Given the description of an element on the screen output the (x, y) to click on. 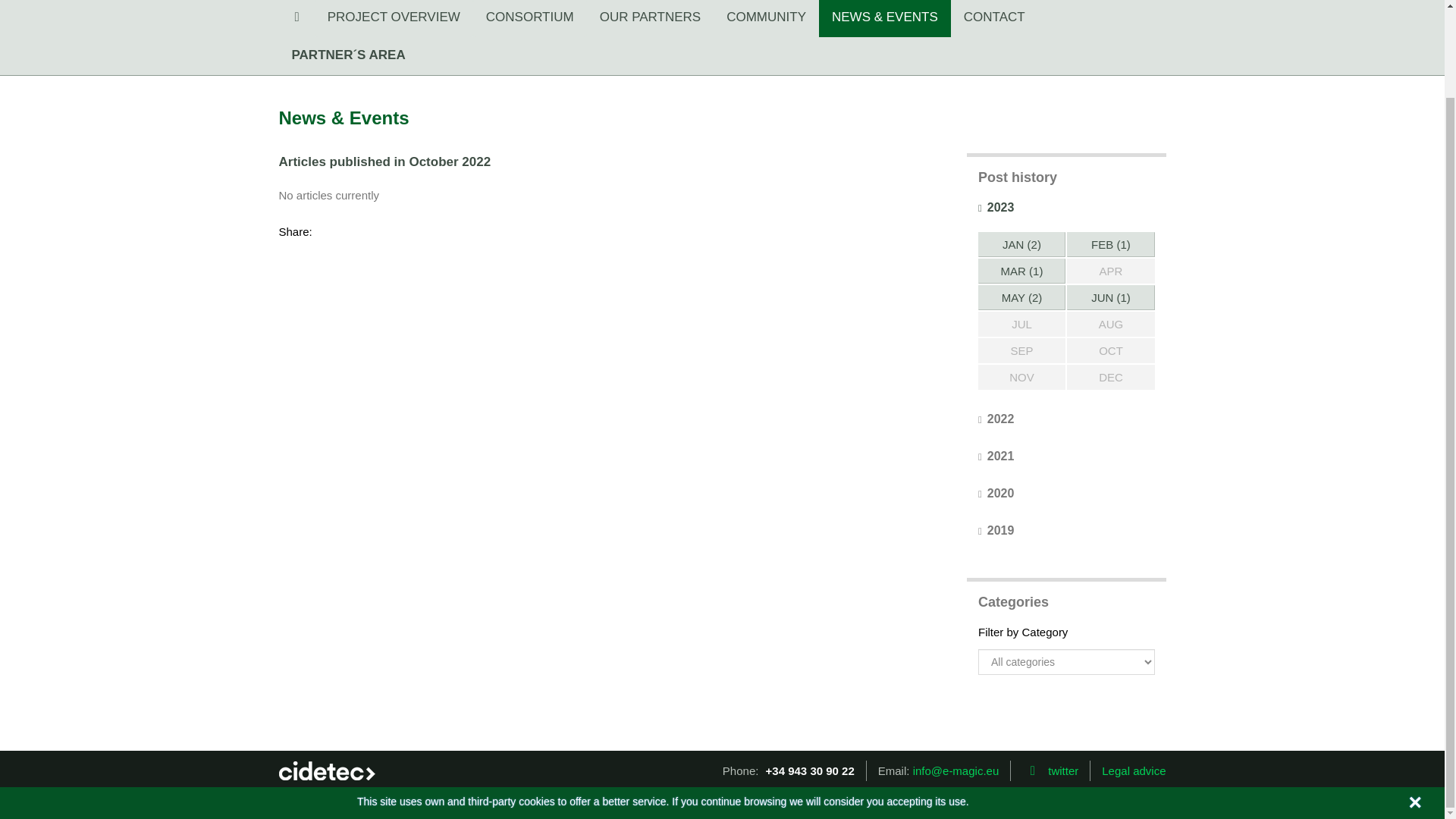
PROJECT OVERVIEW (393, 18)
CONTACT (994, 18)
COMMUNITY (765, 18)
CONSORTIUM (529, 18)
OUR PARTNERS (650, 18)
